Given the description of an element on the screen output the (x, y) to click on. 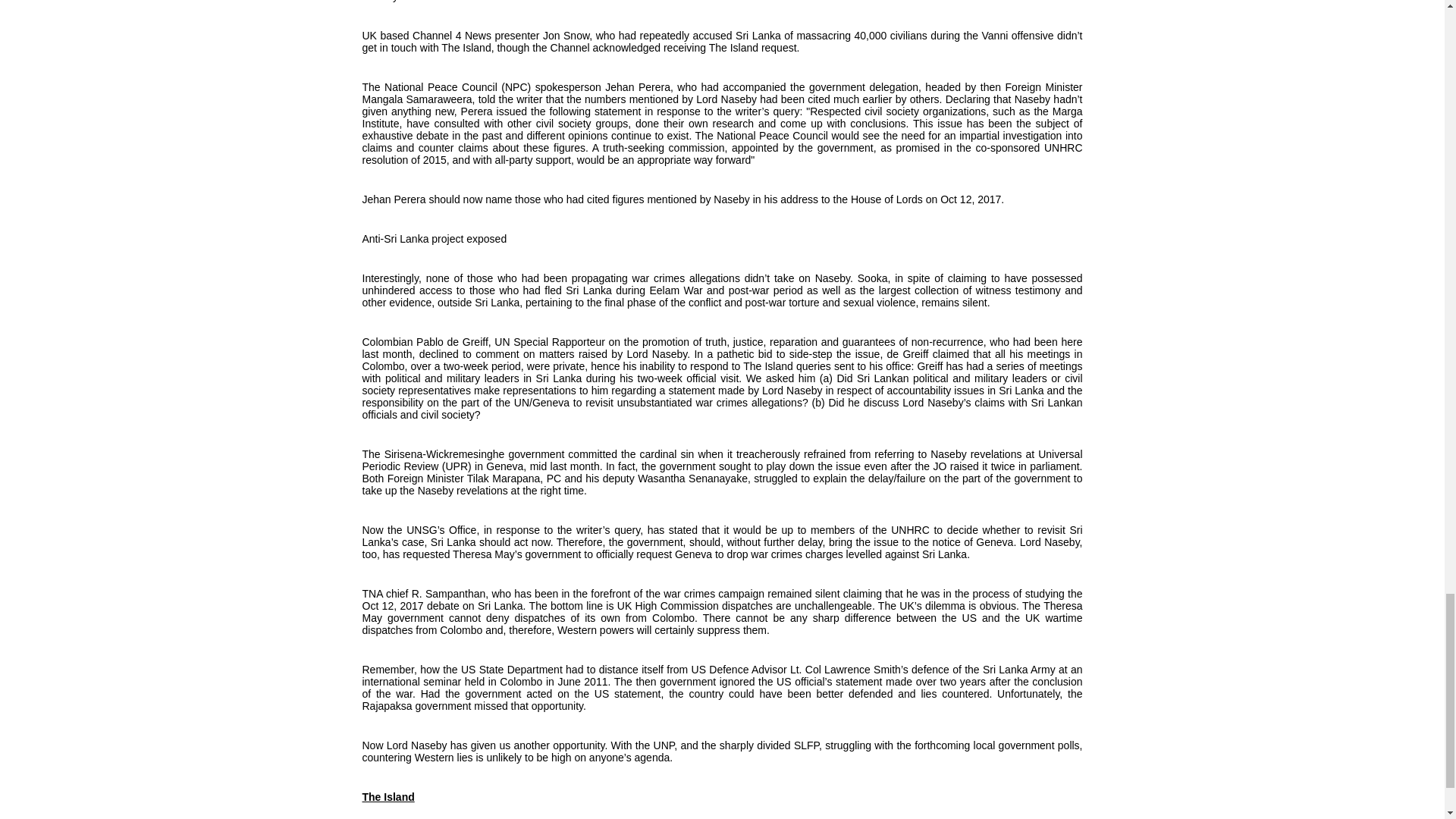
The Island (388, 797)
